Given the description of an element on the screen output the (x, y) to click on. 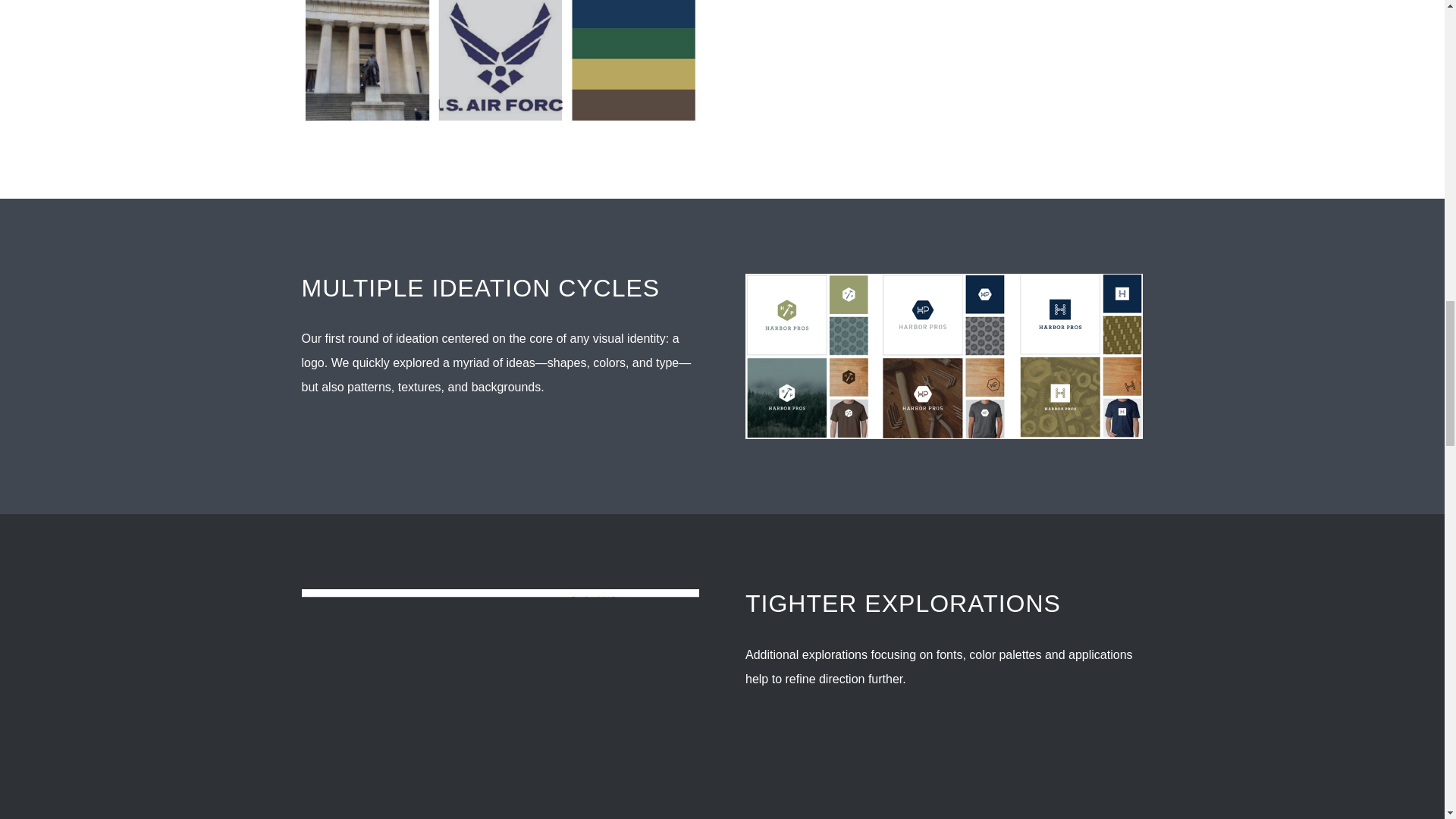
HarborProsMoodBoard (499, 61)
HarborPros-initial-designs (943, 356)
HarborProsExplorations (499, 703)
